Given the description of an element on the screen output the (x, y) to click on. 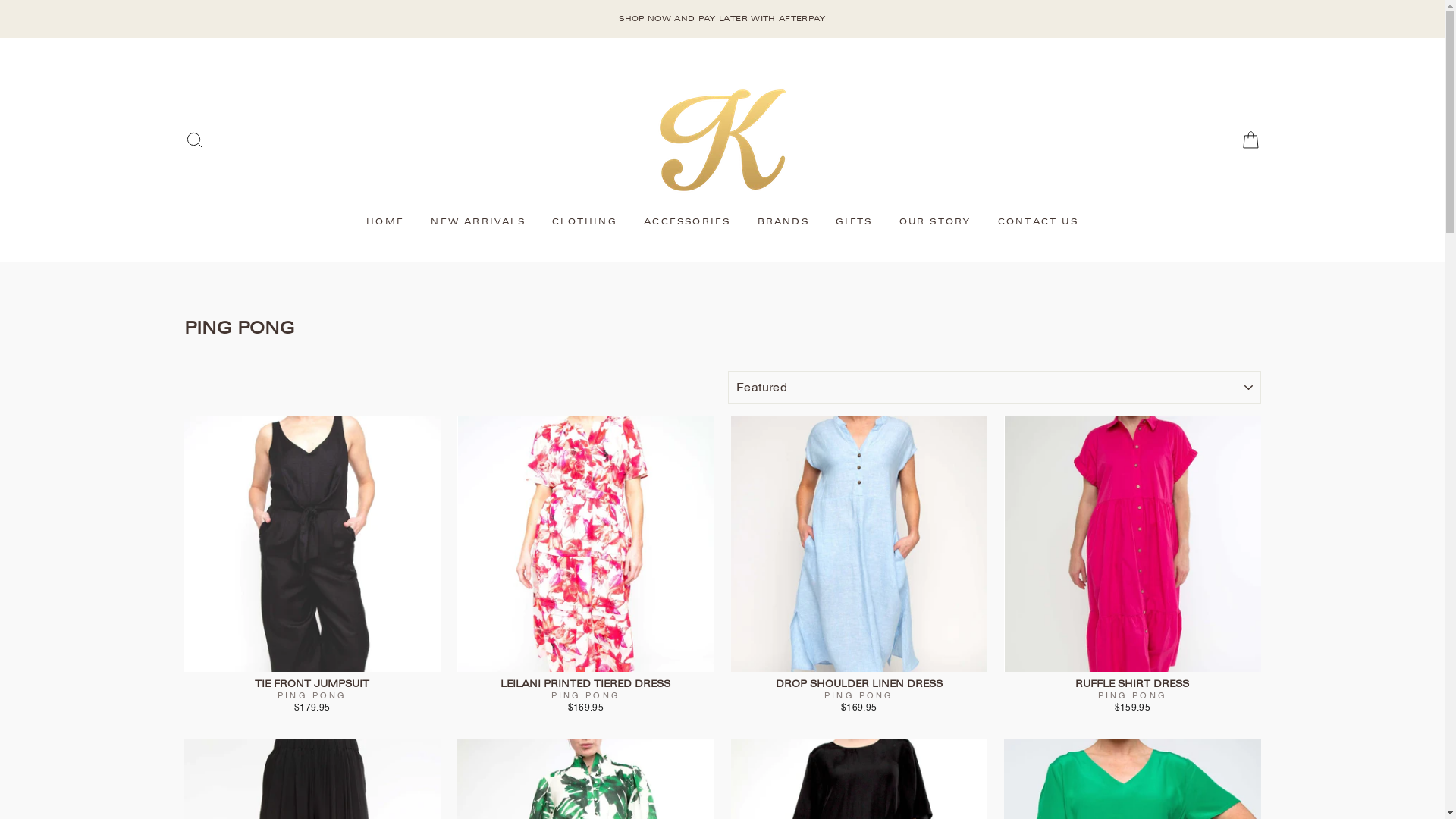
SEARCH Element type: text (194, 139)
NEW ARRIVALS Element type: text (477, 222)
OUR STORY Element type: text (935, 222)
CLOTHING Element type: text (584, 222)
TIE FRONT JUMPSUIT
PING PONG
$179.95 Element type: text (311, 565)
GIFTS Element type: text (853, 222)
HOME Element type: text (384, 222)
CONTACT US Element type: text (1037, 222)
BRANDS Element type: text (783, 222)
CART Element type: text (1250, 139)
LEILANI PRINTED TIERED DRESS
PING PONG
$169.95 Element type: text (585, 565)
Skip to content Element type: text (0, 0)
RUFFLE SHIRT DRESS
PING PONG
$159.95 Element type: text (1132, 565)
ACCESSORIES Element type: text (686, 222)
DROP SHOULDER LINEN DRESS
PING PONG
$169.95 Element type: text (859, 565)
